Given the description of an element on the screen output the (x, y) to click on. 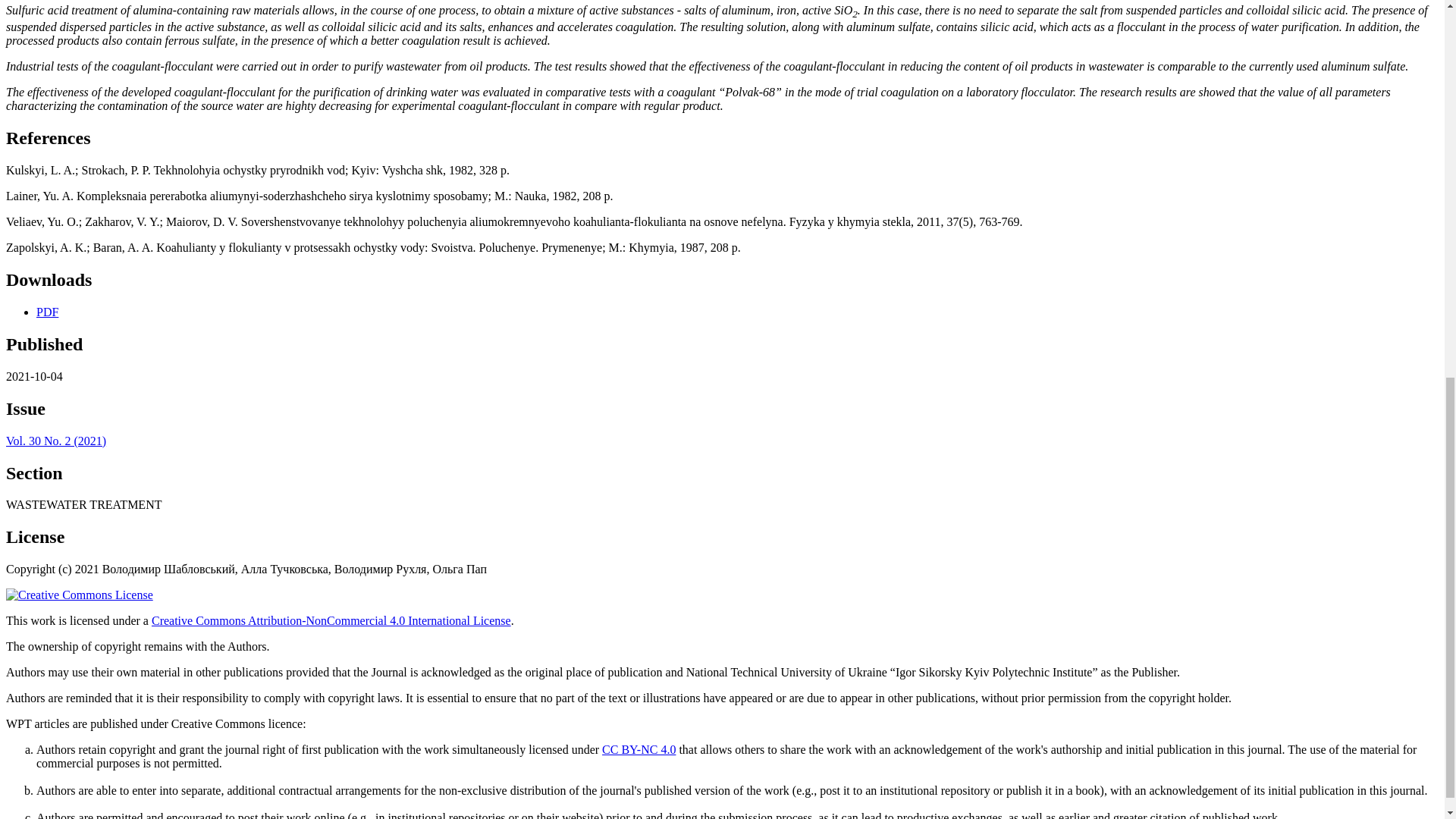
CC BY-NC 4.0 (638, 748)
PDF (47, 311)
